Given the description of an element on the screen output the (x, y) to click on. 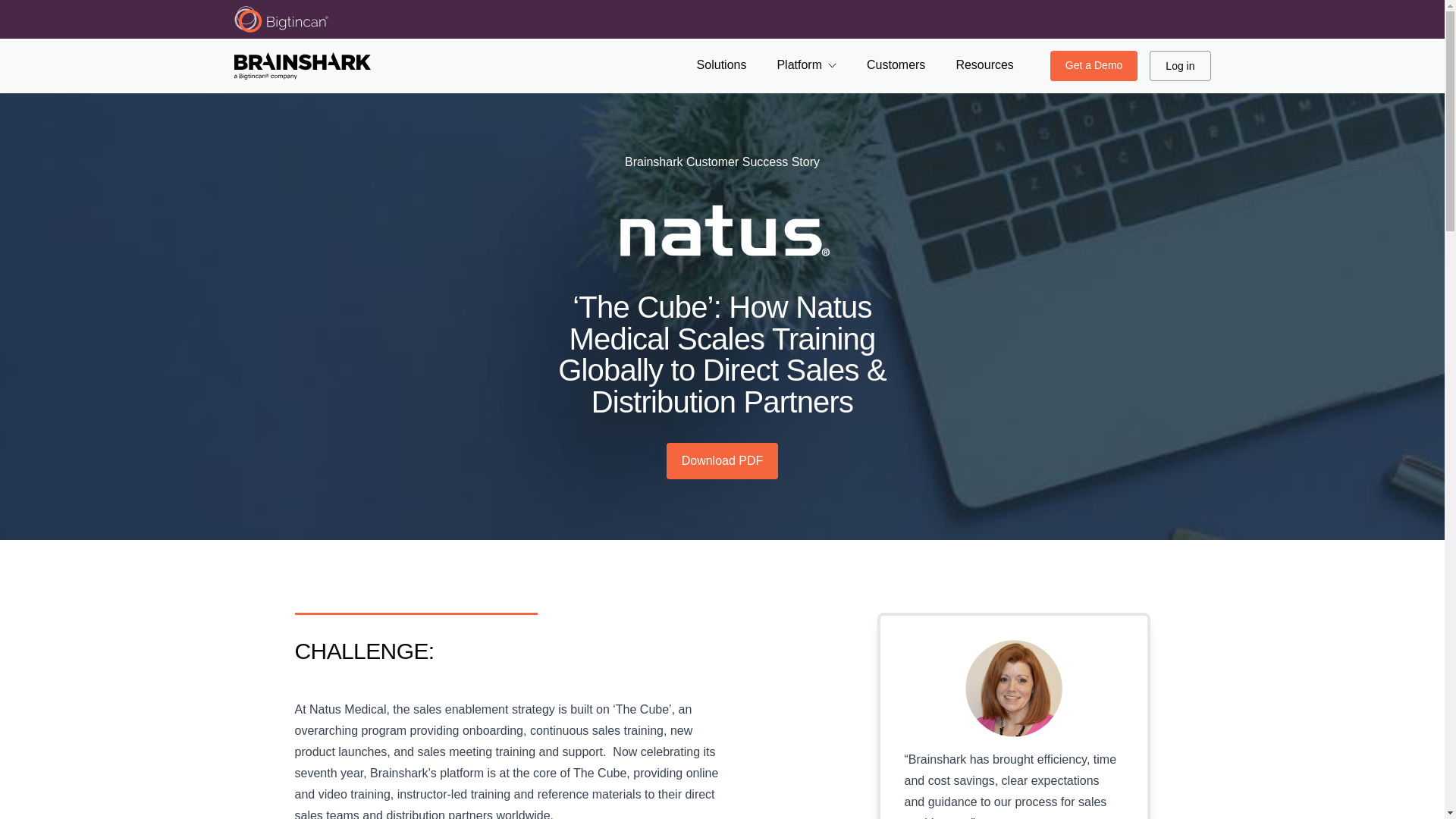
Resources (984, 65)
Get a Demo (1093, 65)
Solutions (721, 65)
Log in (1179, 65)
Platform (805, 65)
Download PDF (722, 461)
Customers (895, 65)
